Given the description of an element on the screen output the (x, y) to click on. 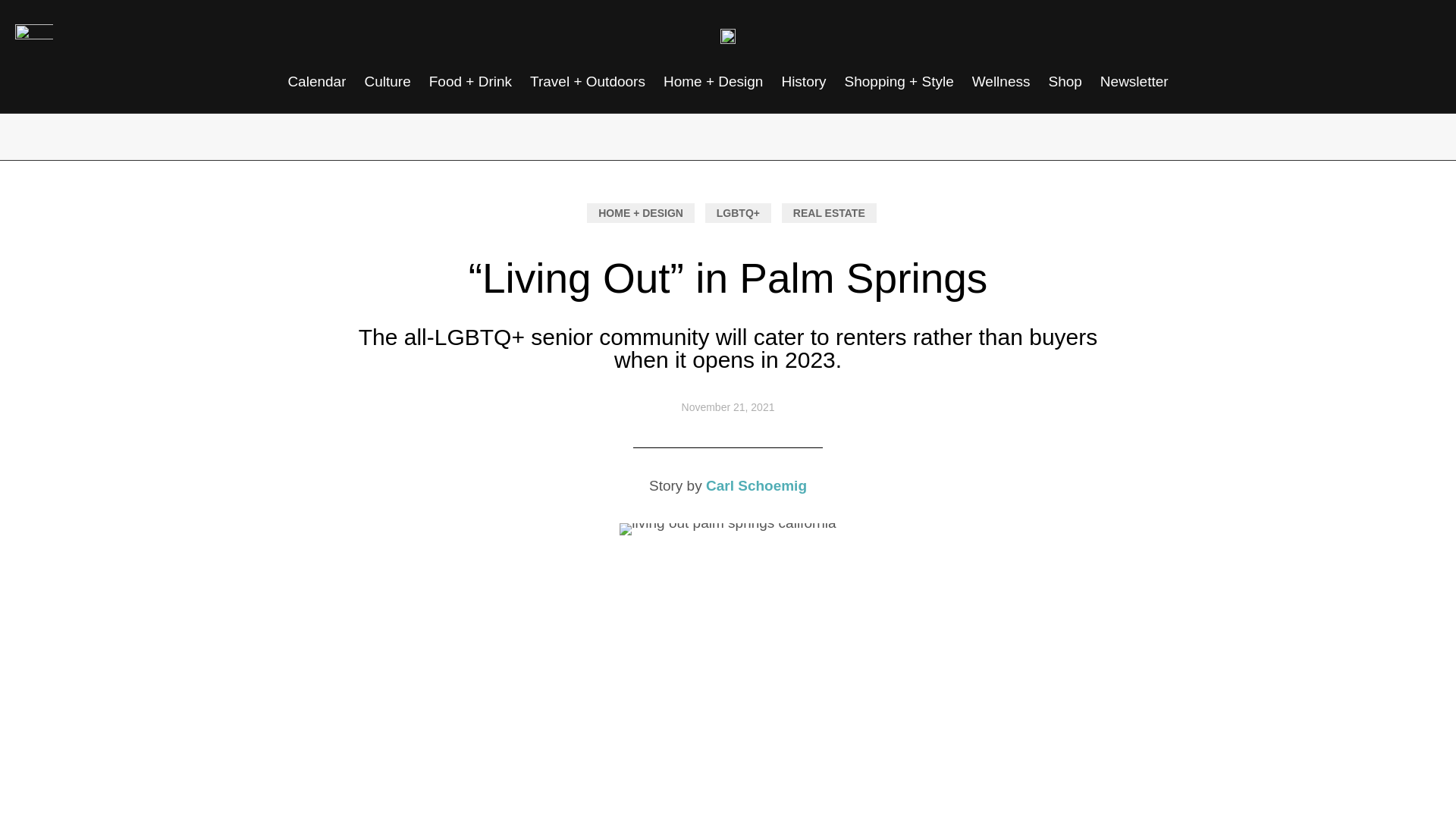
REAL ESTATE (828, 212)
Shop (1064, 81)
Culture (387, 81)
Calendar (316, 81)
History (802, 81)
Wellness (1001, 81)
Carl Schoemig (756, 485)
Newsletter (1134, 81)
living out palm springs california (727, 529)
